Given the description of an element on the screen output the (x, y) to click on. 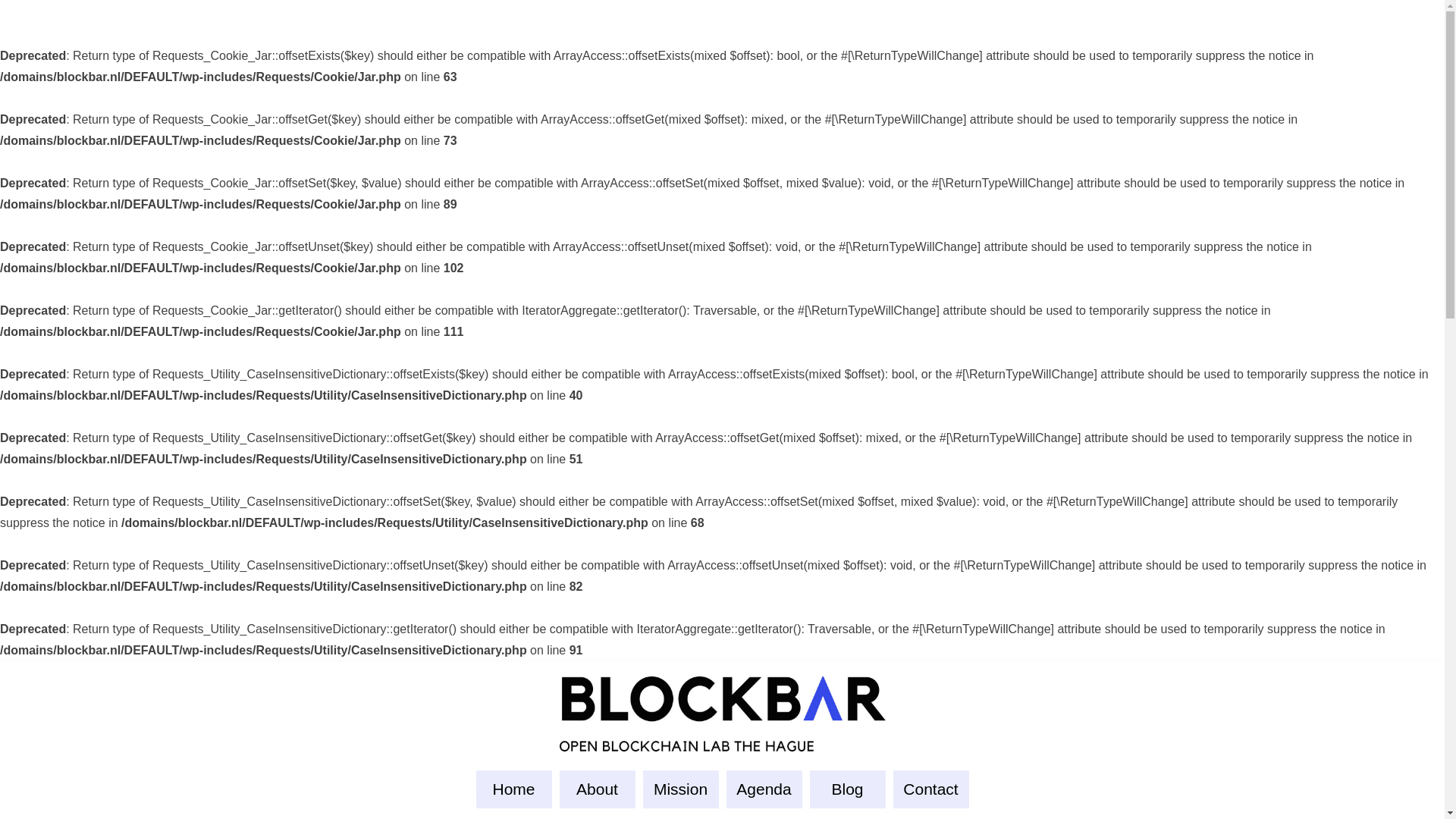
Mission (681, 789)
Home (513, 789)
Agenda (764, 789)
Contact (931, 789)
Blog (847, 789)
About (596, 789)
